Given the description of an element on the screen output the (x, y) to click on. 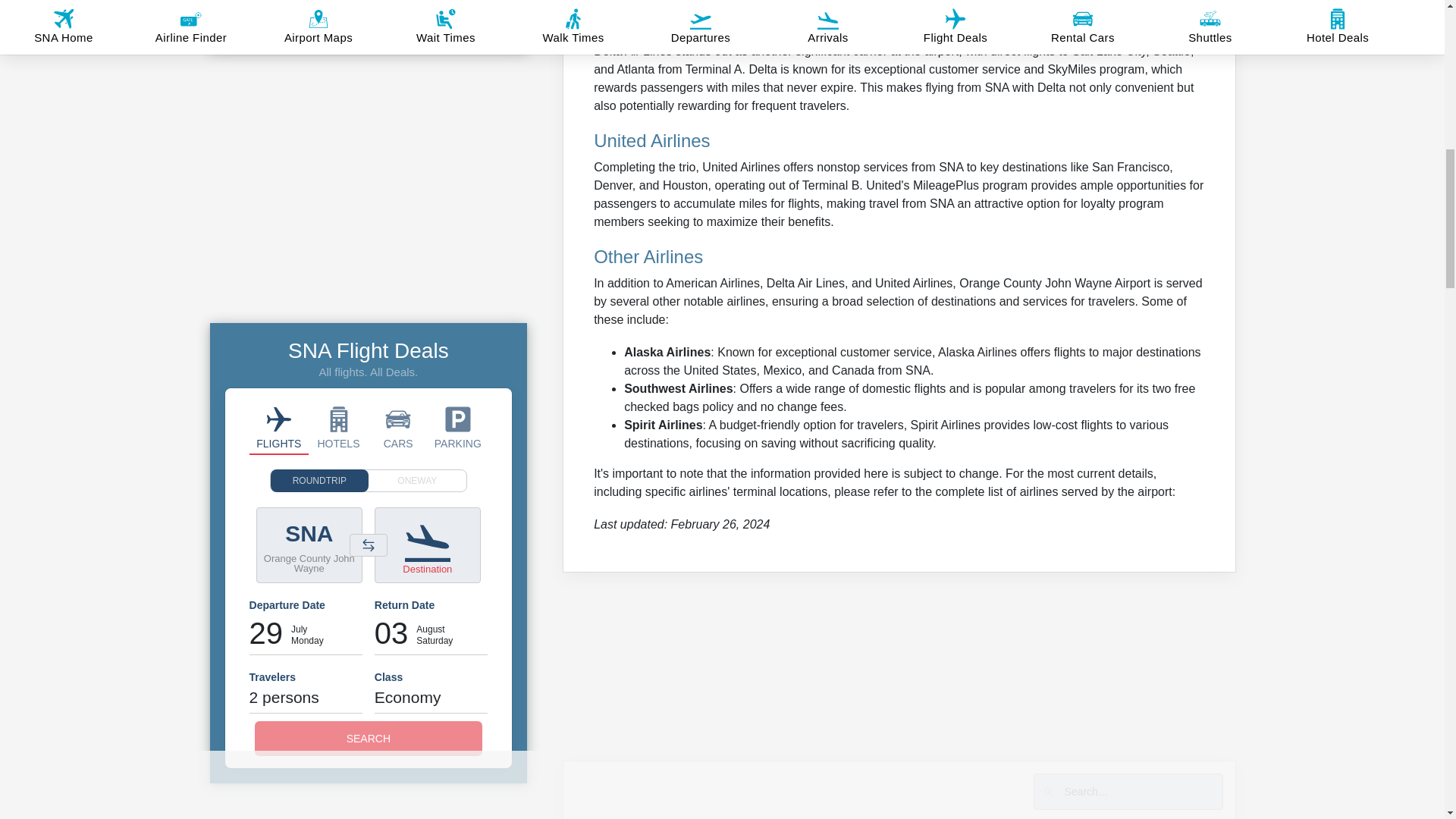
Airport Rental Cars (398, 427)
Hotel Deals (338, 427)
SNA Flight Deals (278, 427)
Off-Airport Parking (457, 427)
